Given the description of an element on the screen output the (x, y) to click on. 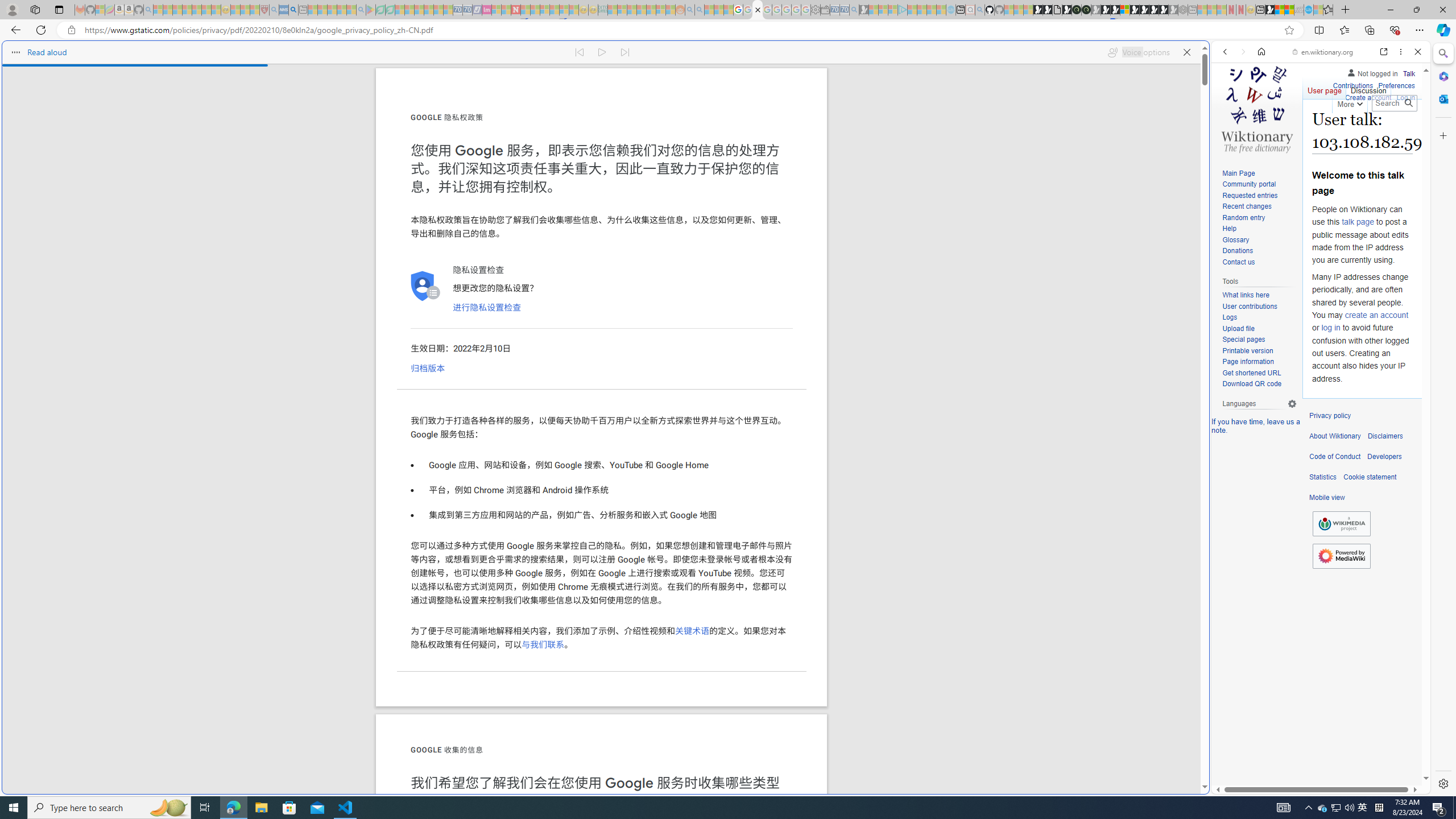
Close split screen (1208, 57)
User page (1324, 87)
github - Search - Sleeping (979, 9)
Page information (1247, 361)
Actions for this site (1370, 583)
What links here (1259, 295)
Code of Conduct (1334, 456)
